Given the description of an element on the screen output the (x, y) to click on. 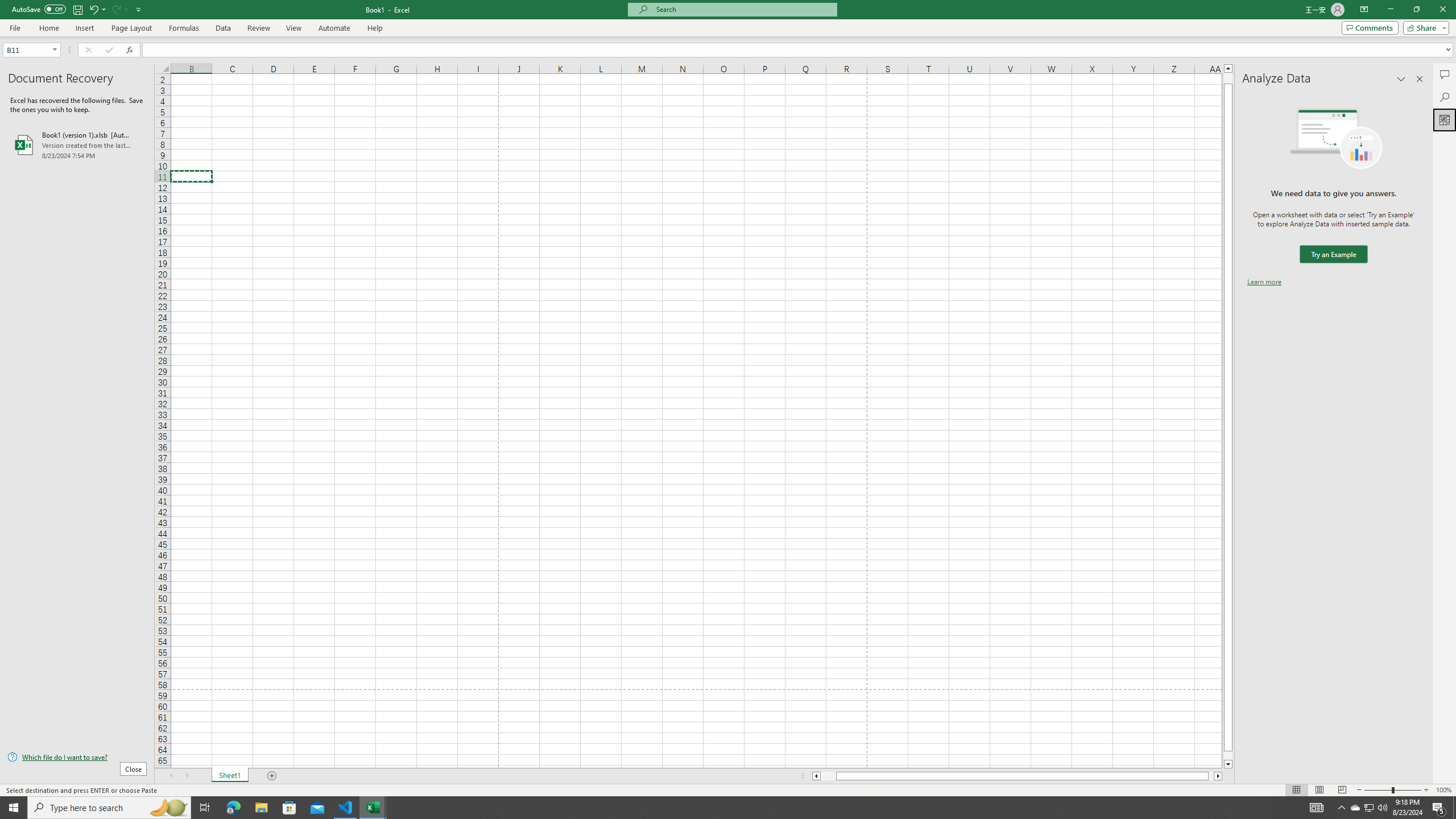
Which file do I want to save? (77, 757)
Analyze Data (1444, 119)
Class: MsoCommandBar (728, 18)
Search (1444, 96)
Automate (334, 28)
